Given the description of an element on the screen output the (x, y) to click on. 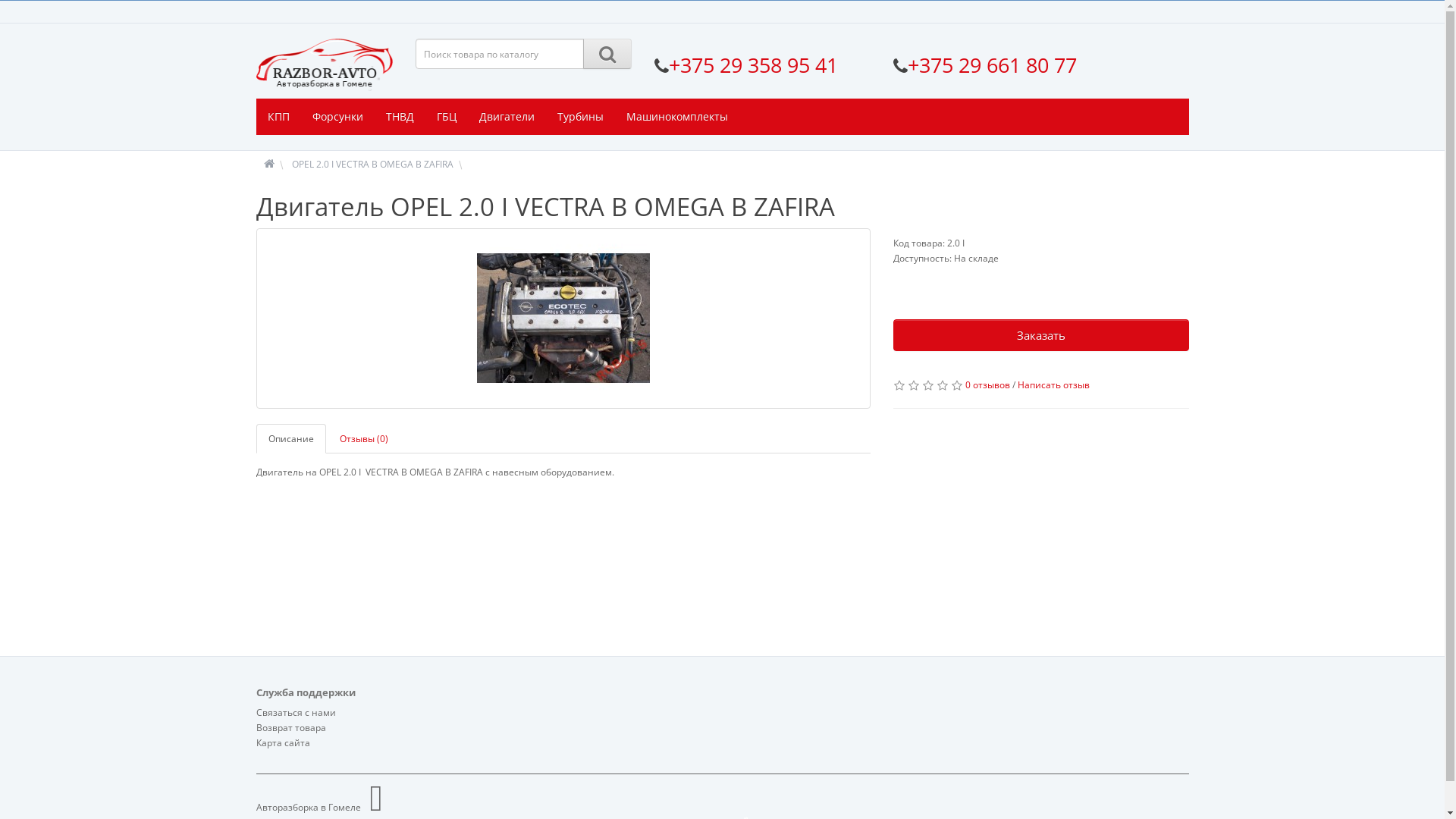
+375 29 358 95 41 Element type: text (752, 64)
+375 29 661 80 77 Element type: text (991, 64)
OPEL 2.0 I VECTRA B OMEGA B ZAFIRA Element type: text (371, 163)
